Given the description of an element on the screen output the (x, y) to click on. 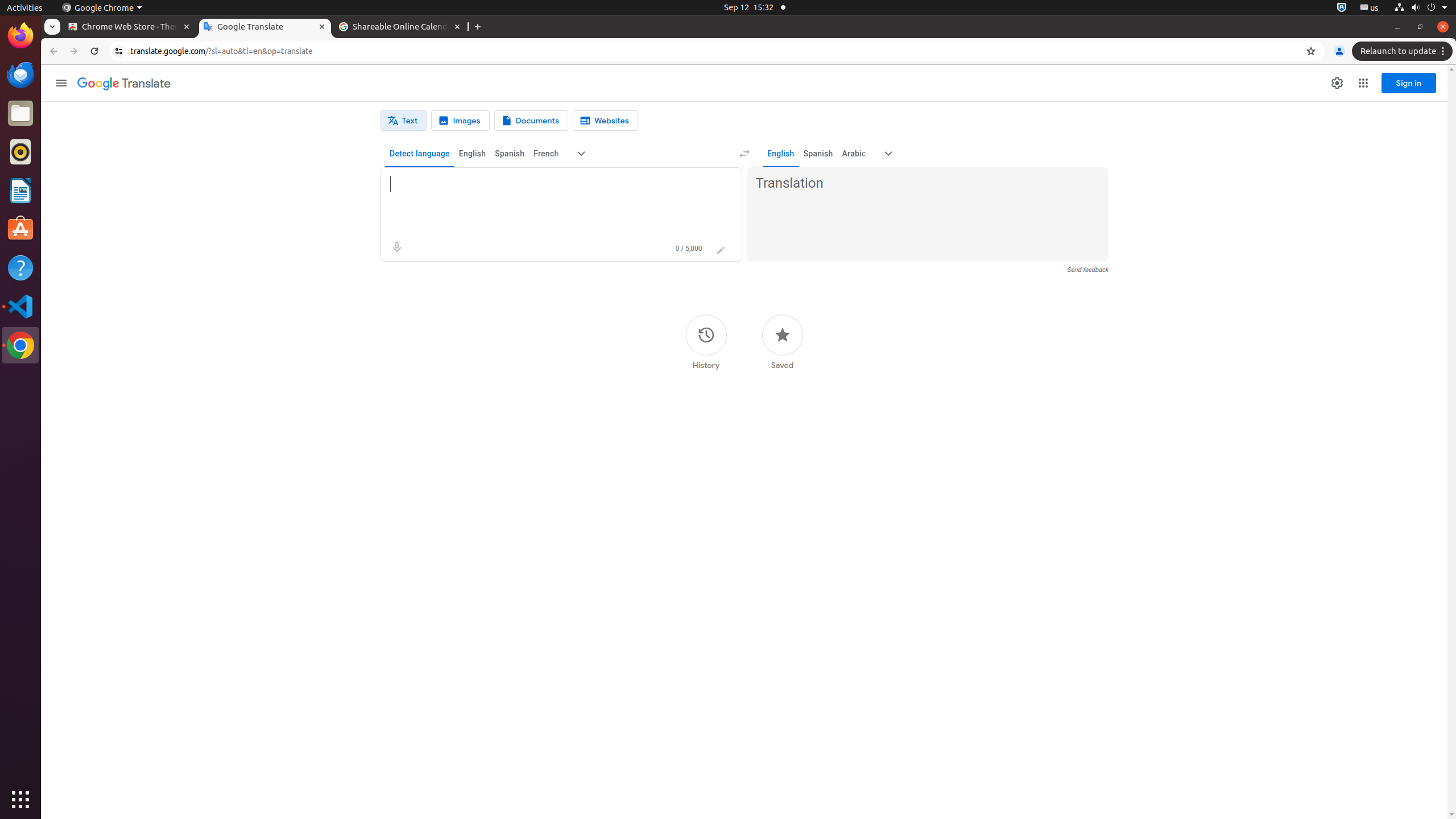
Arabic Element type: page-tab (853, 153)
Shareable Online Calendar and Scheduling - Google Calendar - Memory usage - 107 MB Element type: page-tab (400, 26)
More target languages Element type: push-button (887, 153)
Swap languages (Ctrl+Shift+S) Element type: push-button (743, 153)
Thunderbird Mail Element type: push-button (20, 74)
